Given the description of an element on the screen output the (x, y) to click on. 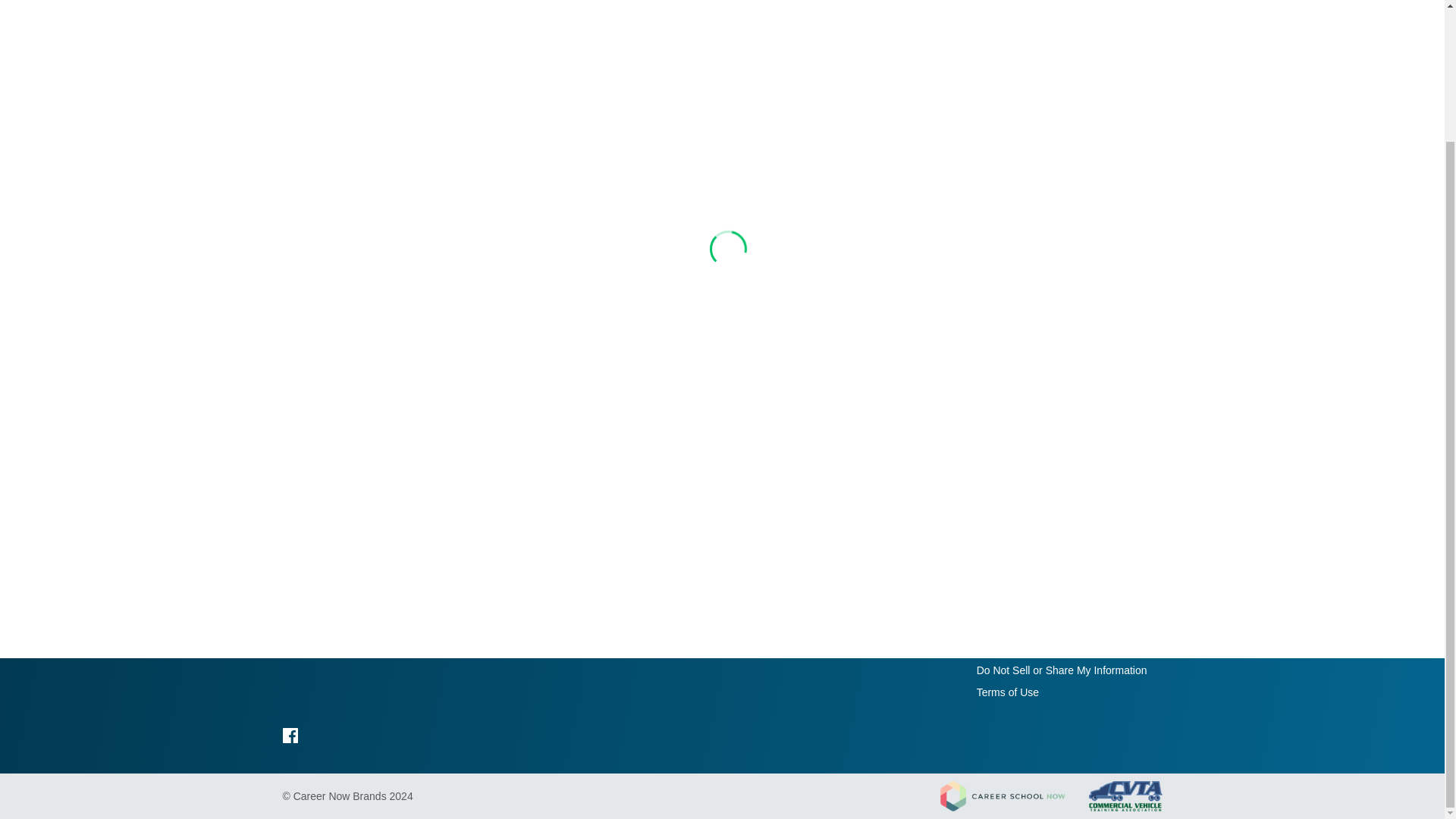
CDL Career Now (357, 568)
CDL Job Now (613, 582)
CDL Schools (740, 604)
Terms of Use (1007, 692)
Add Your School (1015, 604)
Find CDL Schools Near You (732, 582)
Becoming a Trucker (894, 582)
About (990, 582)
Practice Tests (880, 604)
Truck Warrior - Apply for Multiple Jobs (612, 604)
